Given the description of an element on the screen output the (x, y) to click on. 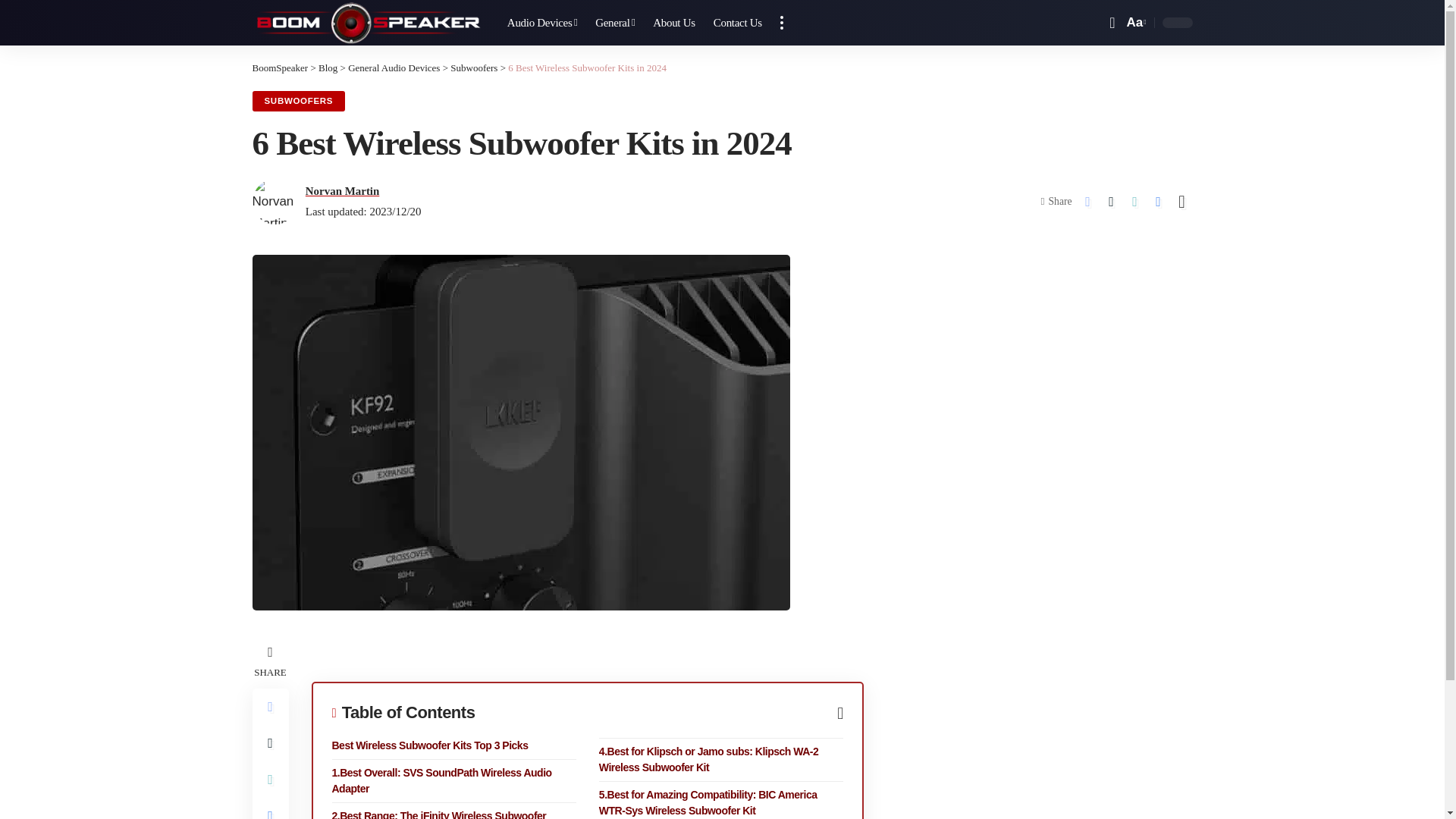
Go to Blog. (327, 67)
Go to the Subwoofers Category archives. (473, 67)
Go to BoomSpeaker. (279, 67)
BoomSpeaker (366, 22)
Contact Us (737, 22)
About Us (673, 22)
Go to the General Audio Devices Category archives. (393, 67)
Audio Devices (541, 22)
General (614, 22)
